Given the description of an element on the screen output the (x, y) to click on. 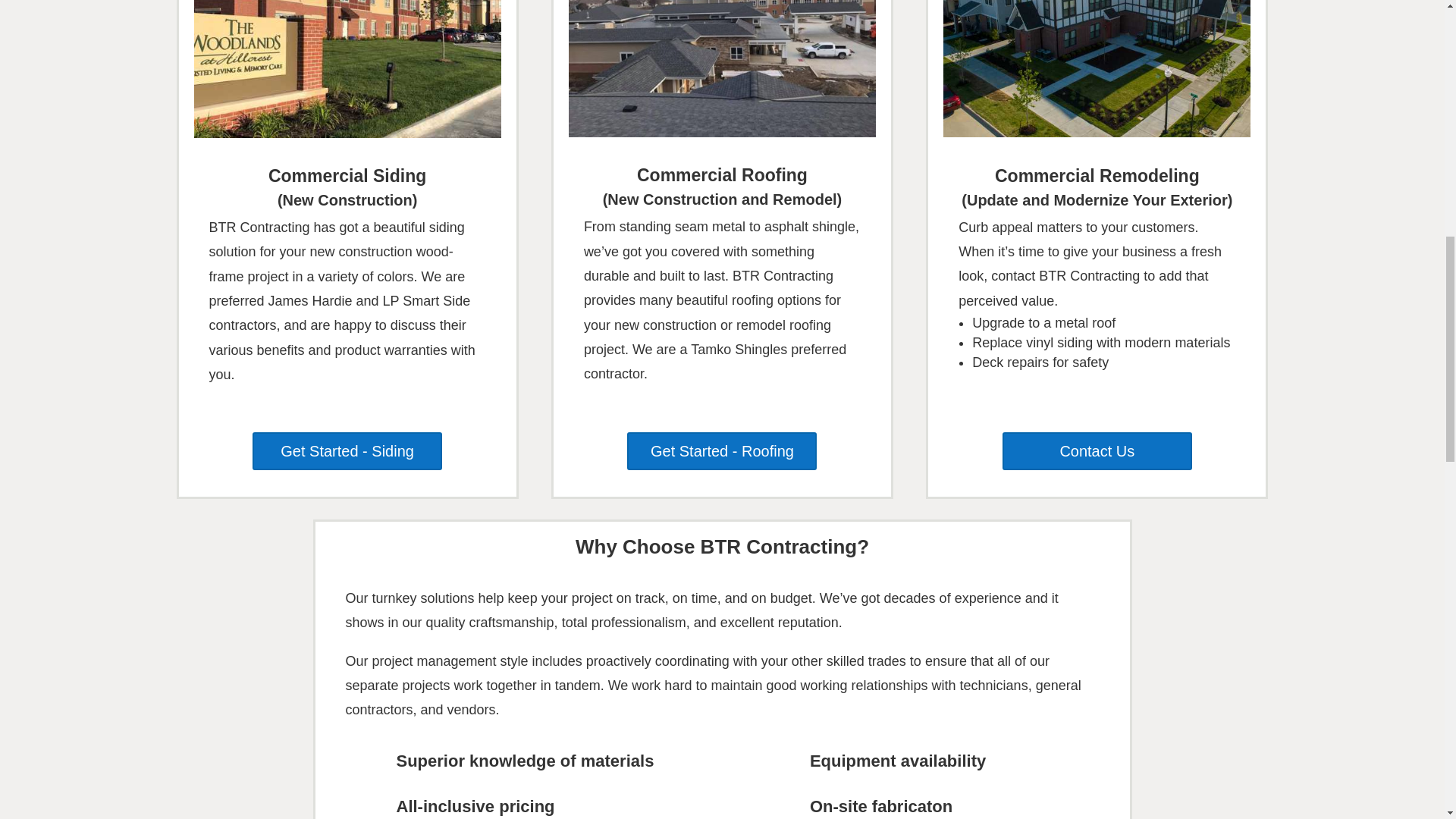
Contact Us (1097, 451)
Get Started - Siding (346, 451)
Bunglows on the Lake 053020202 (1096, 68)
Get Started - Roofing (721, 451)
